Given the description of an element on the screen output the (x, y) to click on. 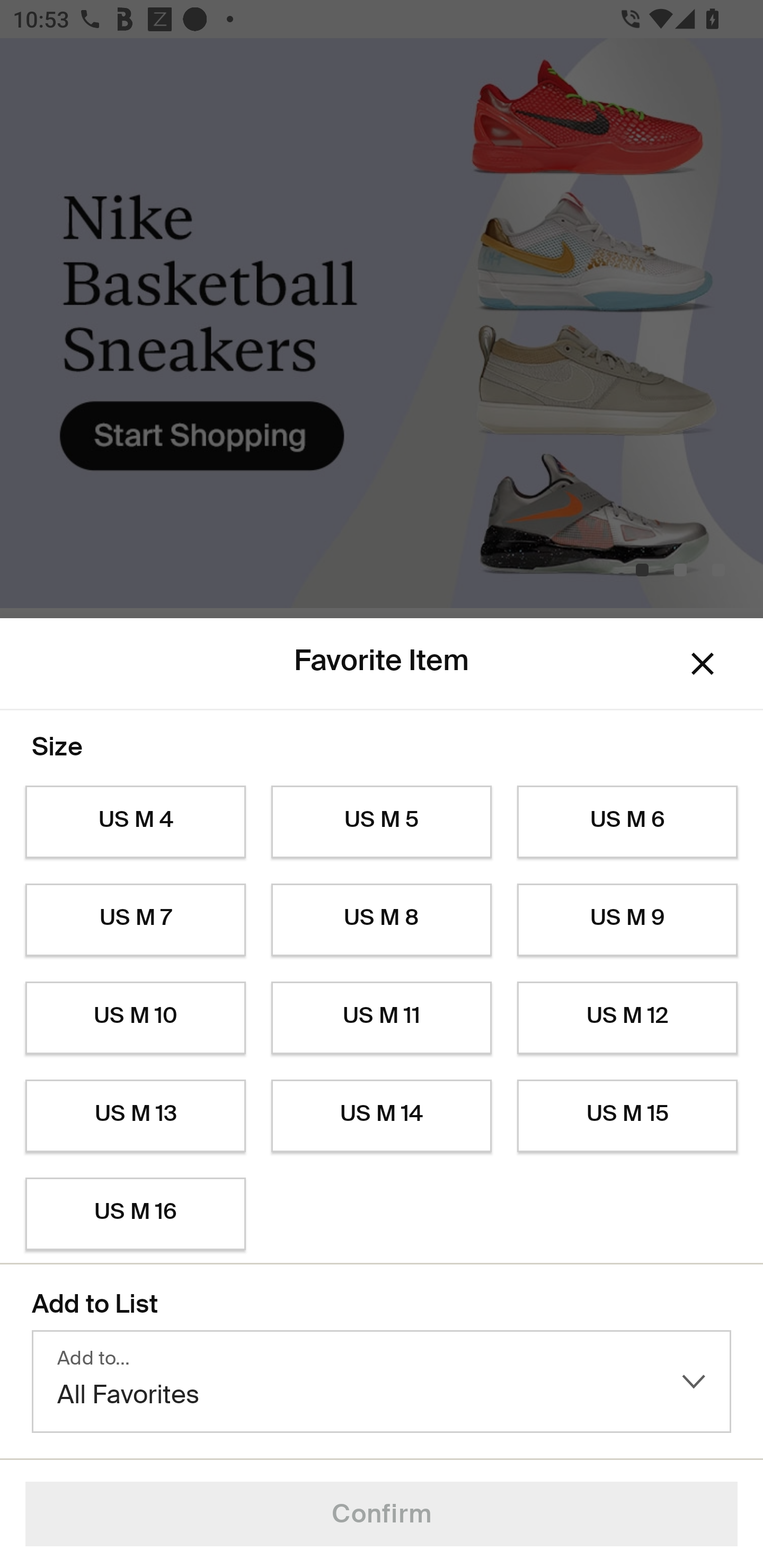
Dismiss (702, 663)
US M 4 (135, 822)
US M 5 (381, 822)
US M 6 (627, 822)
US M 7 (135, 919)
US M 8 (381, 919)
US M 9 (627, 919)
US M 10 (135, 1018)
US M 11 (381, 1018)
US M 12 (627, 1018)
US M 13 (135, 1116)
US M 14 (381, 1116)
US M 15 (627, 1116)
US M 16 (135, 1214)
Add to… All Favorites (381, 1381)
Confirm (381, 1513)
